Given the description of an element on the screen output the (x, y) to click on. 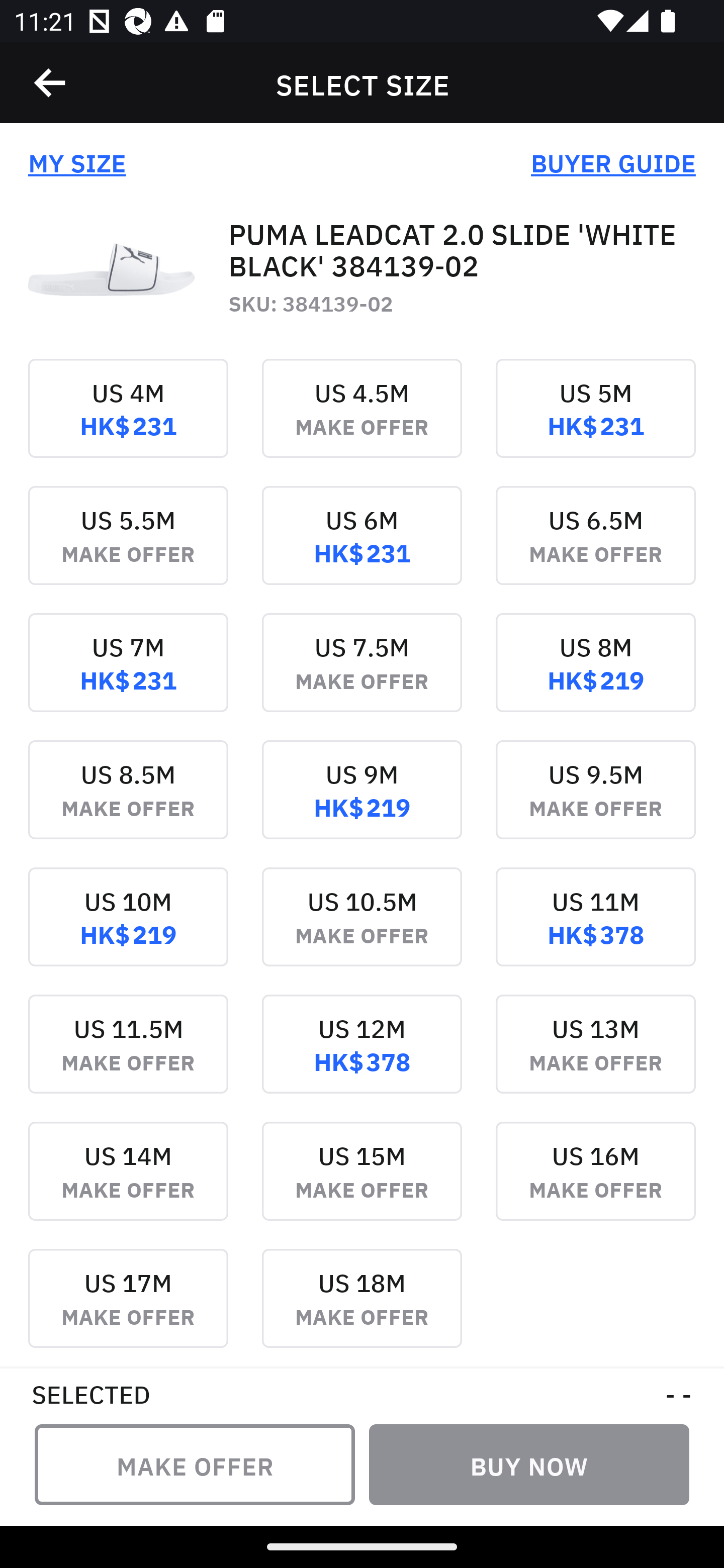
 (50, 83)
US 4M HK$ 231 (128, 422)
US 4.5M MAKE OFFER (361, 422)
US 5M HK$ 231 (595, 422)
US 5.5M MAKE OFFER (128, 549)
US 6M HK$ 231 (361, 549)
US 6.5M MAKE OFFER (595, 549)
US 7M HK$ 231 (128, 676)
US 7.5M MAKE OFFER (361, 676)
US 8M HK$ 219 (595, 676)
US 8.5M MAKE OFFER (128, 803)
US 9M HK$ 219 (361, 803)
US 9.5M MAKE OFFER (595, 803)
US 10M HK$ 219 (128, 930)
US 10.5M MAKE OFFER (361, 930)
US 11M HK$ 378 (595, 930)
US 11.5M MAKE OFFER (128, 1057)
US 12M HK$ 378 (361, 1057)
US 13M MAKE OFFER (595, 1057)
US 14M MAKE OFFER (128, 1184)
US 15M MAKE OFFER (361, 1184)
US 16M MAKE OFFER (595, 1184)
US 17M MAKE OFFER (128, 1306)
US 18M MAKE OFFER (361, 1306)
MAKE OFFER (194, 1464)
BUY NOW (529, 1464)
